Given the description of an element on the screen output the (x, y) to click on. 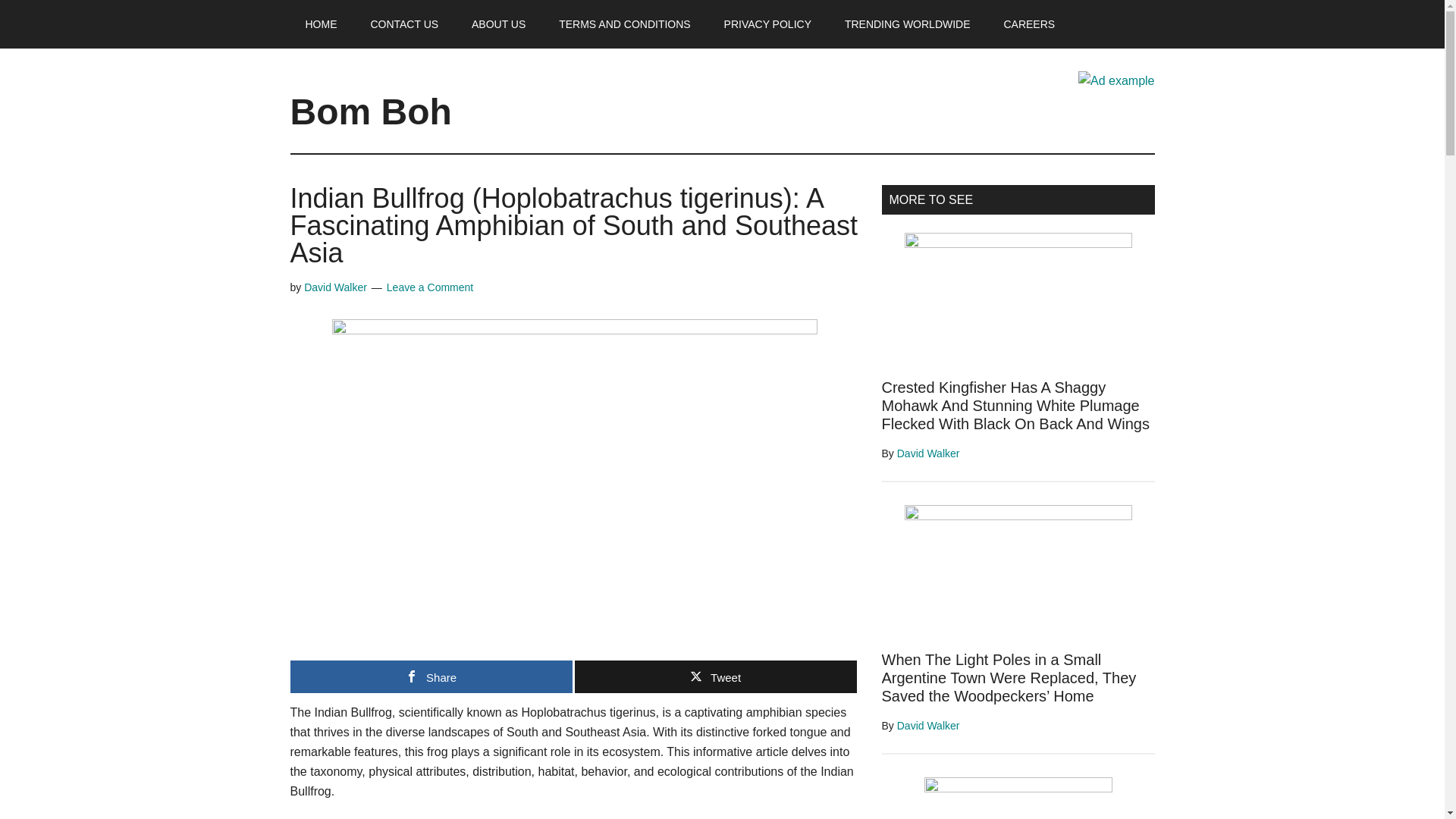
TRENDING WORLDWIDE (907, 24)
CAREERS (1029, 24)
Bom Boh (370, 111)
David Walker (927, 725)
CONTACT US (403, 24)
TERMS AND CONDITIONS (623, 24)
Leave a Comment (430, 287)
Share (430, 676)
ABOUT US (498, 24)
David Walker (335, 287)
David Walker (927, 453)
HOME (320, 24)
PRIVACY POLICY (768, 24)
